Given the description of an element on the screen output the (x, y) to click on. 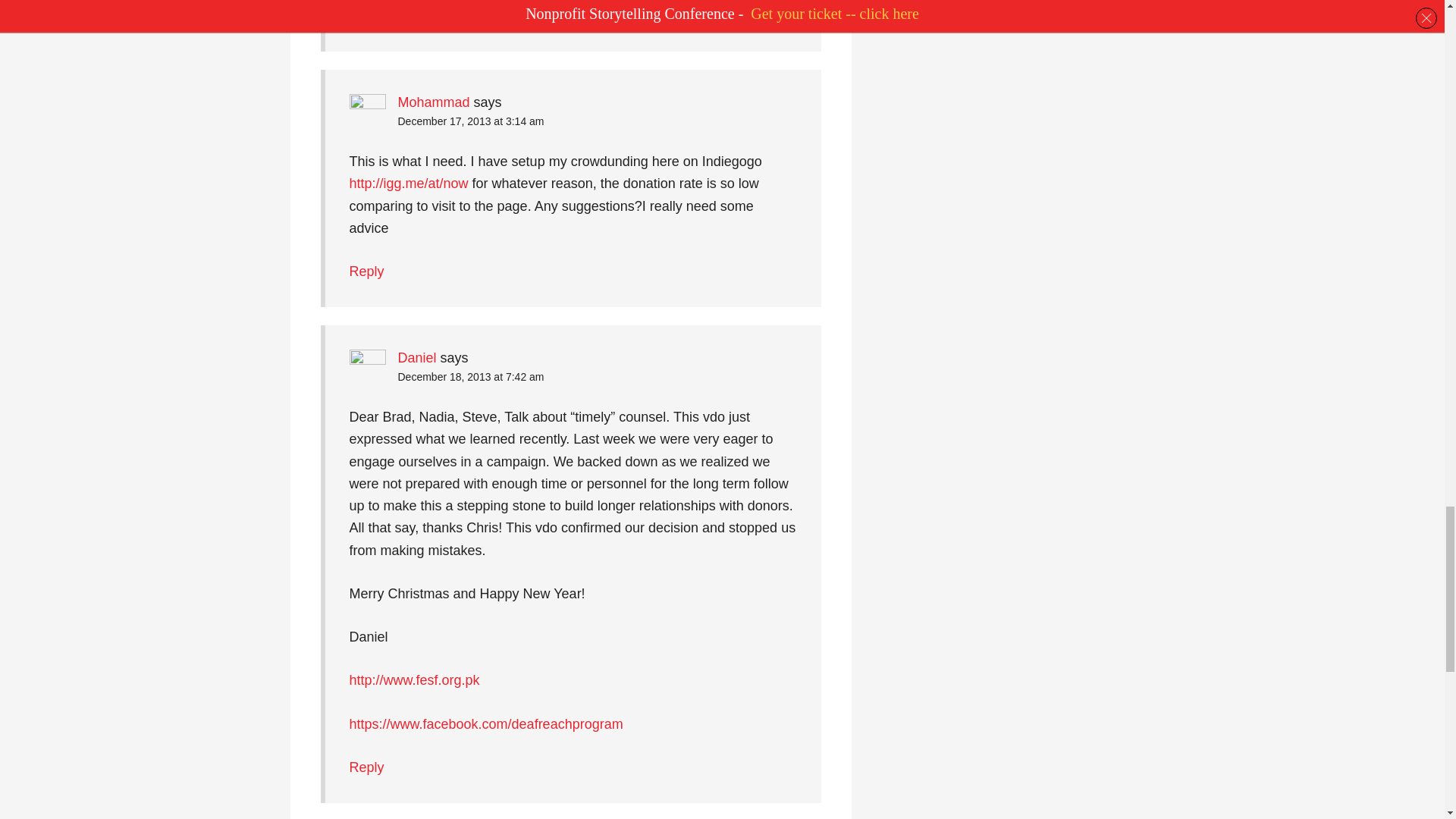
Reply (366, 271)
Reply (366, 767)
Mohammad (432, 102)
Daniel (416, 357)
December 17, 2013 at 3:14 am (470, 121)
Reply (366, 15)
December 18, 2013 at 7:42 am (470, 377)
